Given the description of an element on the screen output the (x, y) to click on. 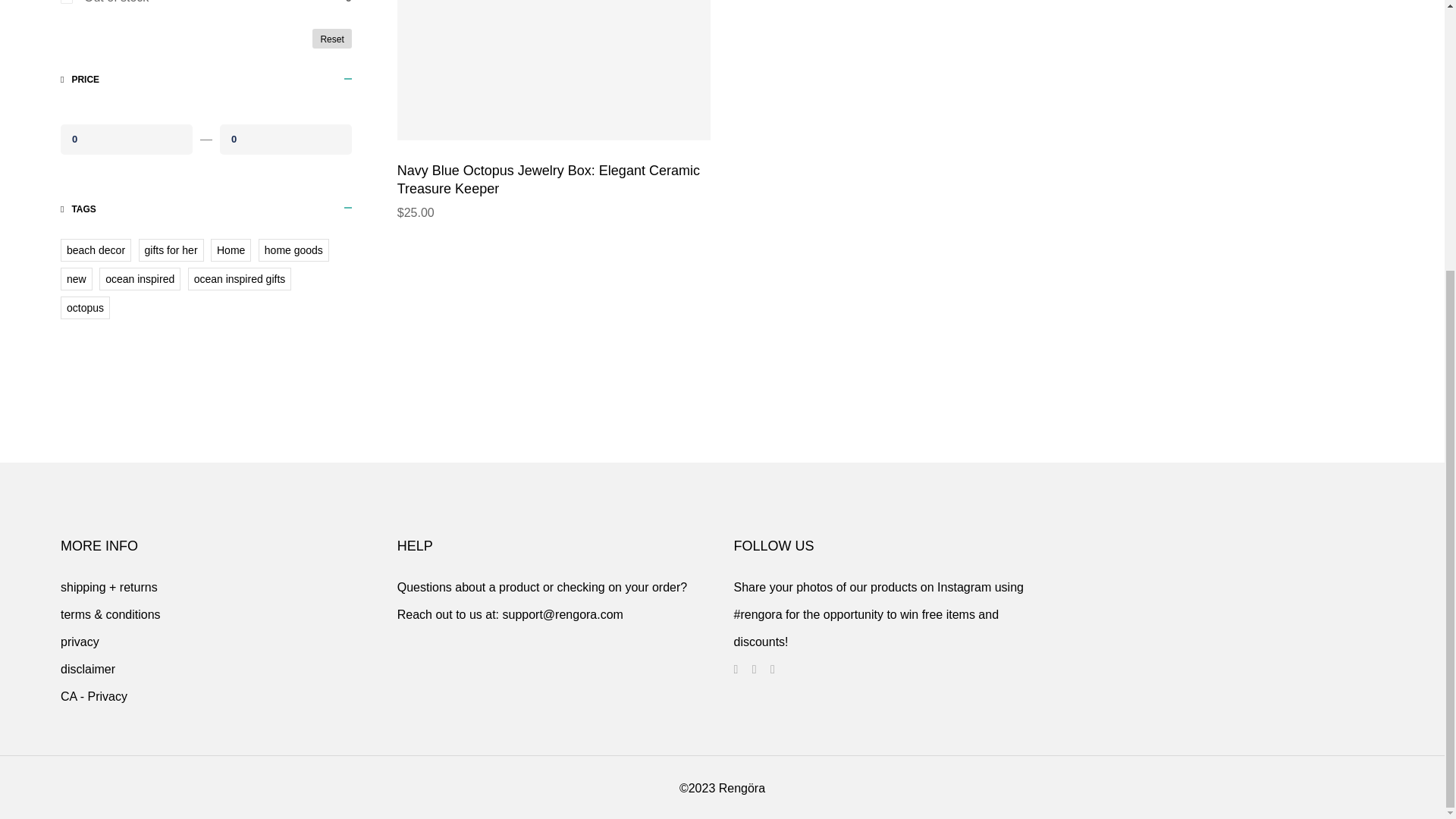
Show products matching tag home goods (294, 250)
Show products matching tag beach decor (96, 250)
Show products matching tag ocean inspired (139, 278)
Show products matching tag new (77, 278)
Show products matching tag octopus (85, 307)
Show products matching tag ocean inspired gifts (239, 278)
Show products matching tag Home (230, 250)
0 (285, 138)
Show products matching tag gifts for her (170, 250)
0 (126, 138)
